Given the description of an element on the screen output the (x, y) to click on. 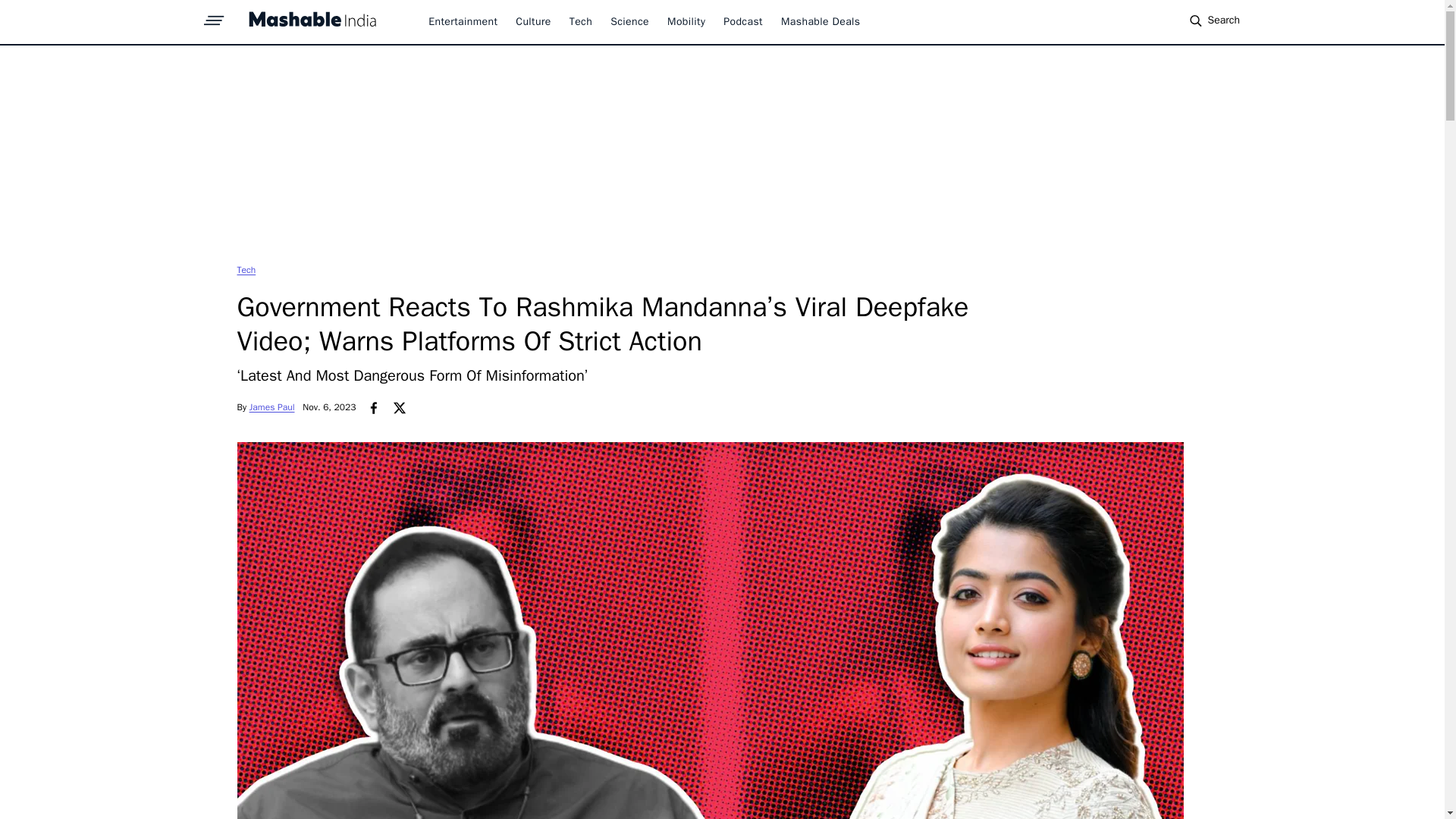
Entertainment (462, 21)
James Paul (271, 407)
Tech (245, 269)
Mashable Deals (820, 21)
Science (629, 21)
Tech (245, 269)
sprite-hamburger (213, 16)
Tech (580, 21)
Culture (532, 21)
Podcast (742, 21)
